Given the description of an element on the screen output the (x, y) to click on. 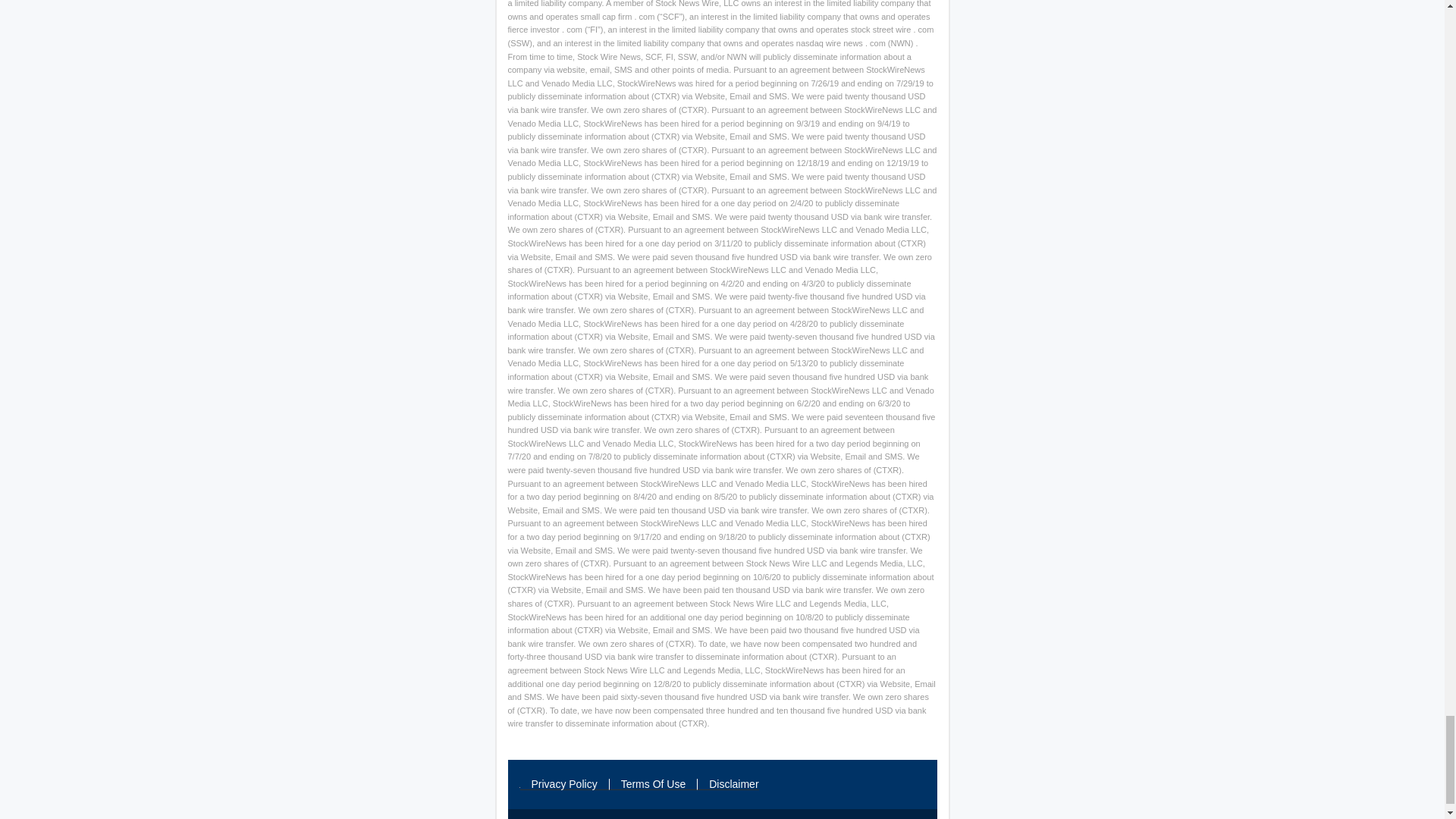
Terms Of Use (654, 784)
Privacy Policy (564, 784)
Disclaimer (727, 784)
